Given the description of an element on the screen output the (x, y) to click on. 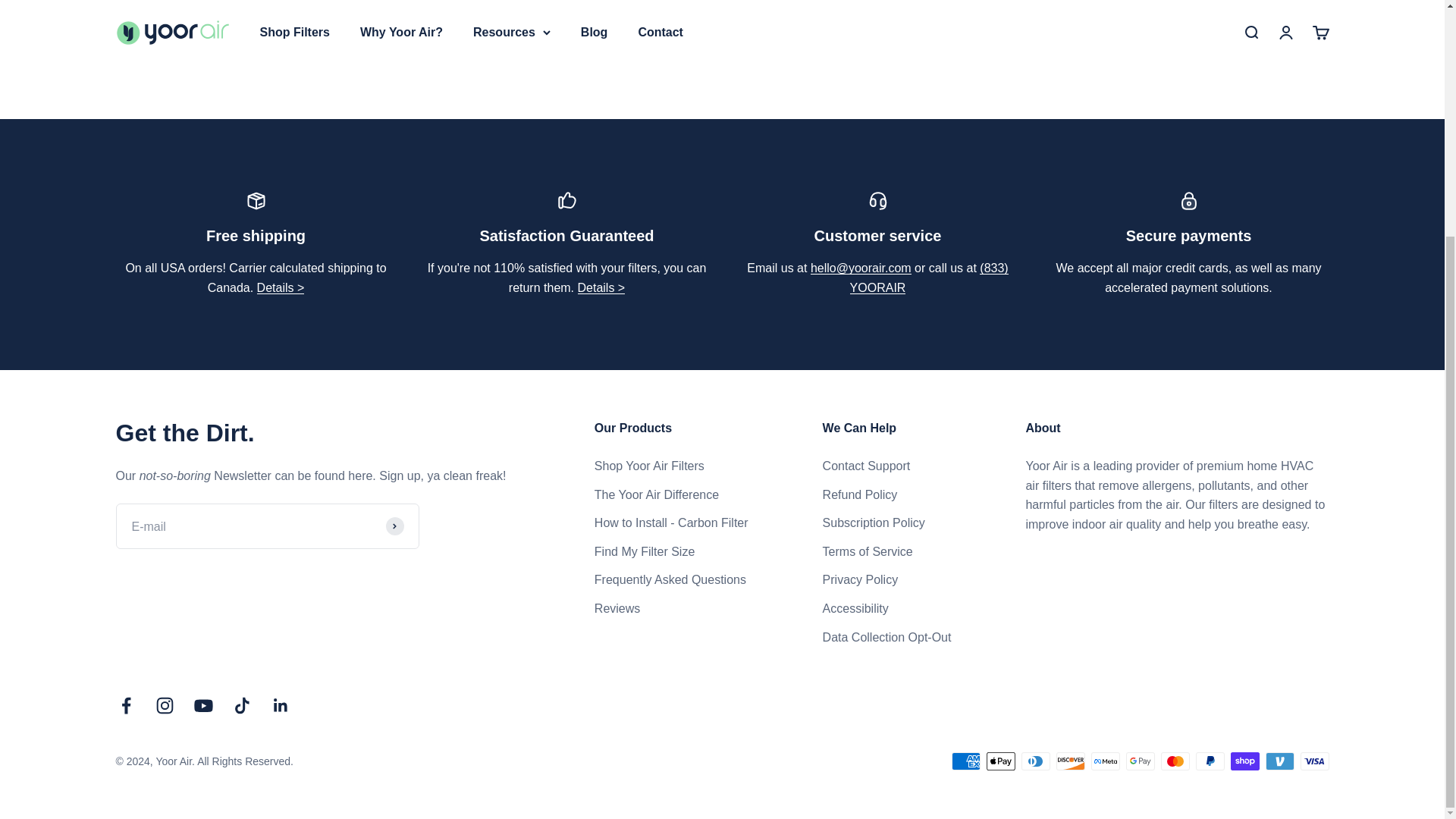
Subscribe (394, 525)
Refund Policy (602, 287)
Call Us (929, 277)
